Given the description of an element on the screen output the (x, y) to click on. 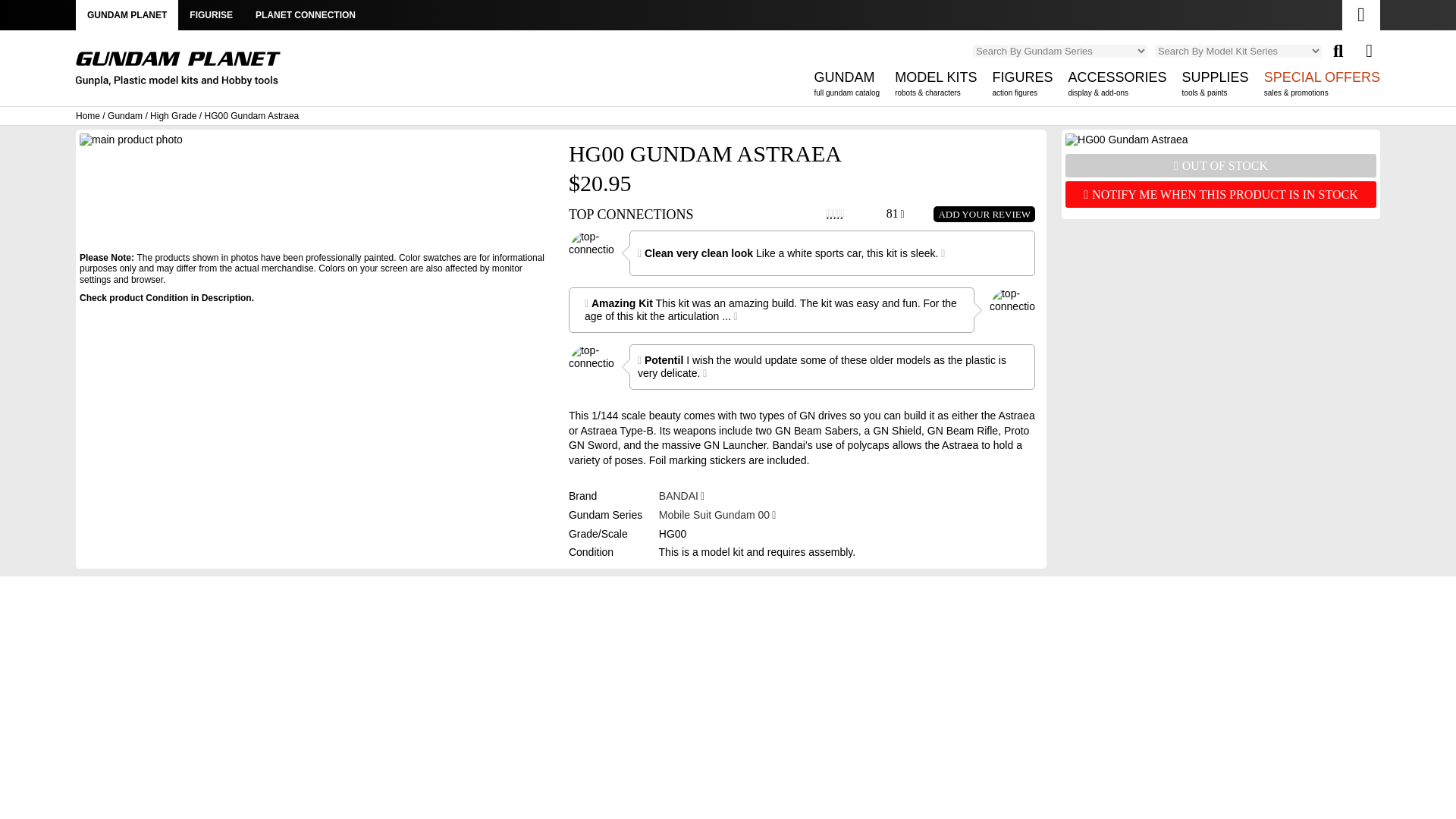
Gundam Planet (846, 87)
GUNDAM PLANET (178, 73)
Gundam Planet (126, 15)
FIGURISE (178, 68)
PLANET CONNECTION (210, 15)
